Given the description of an element on the screen output the (x, y) to click on. 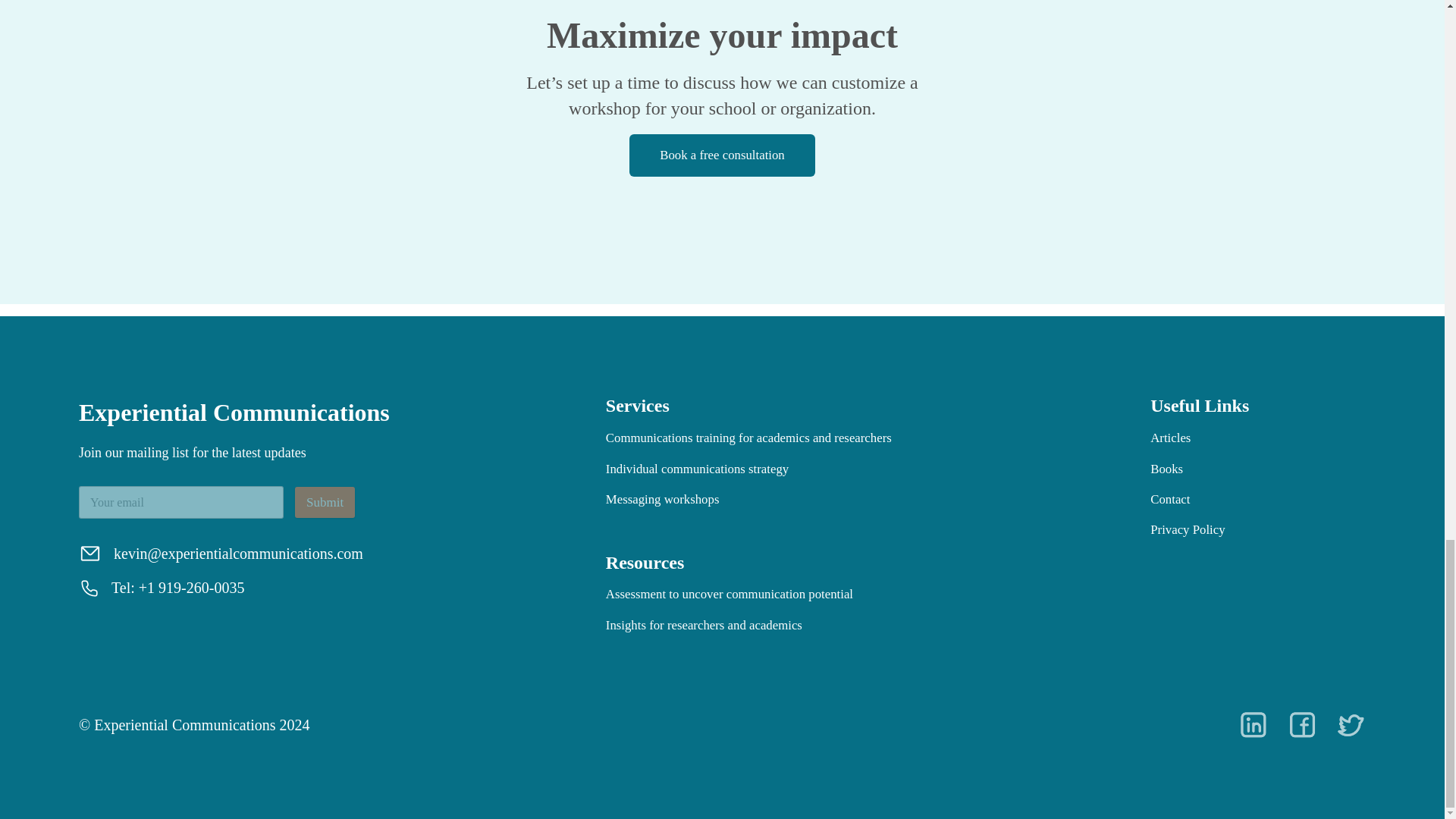
Communications training for academics and researchers (748, 438)
Individual communications strategy (697, 469)
Messaging workshops (662, 499)
Experiential Communications (234, 411)
Book a free consultation (721, 155)
Articles (1170, 438)
Submit (325, 501)
